Given the description of an element on the screen output the (x, y) to click on. 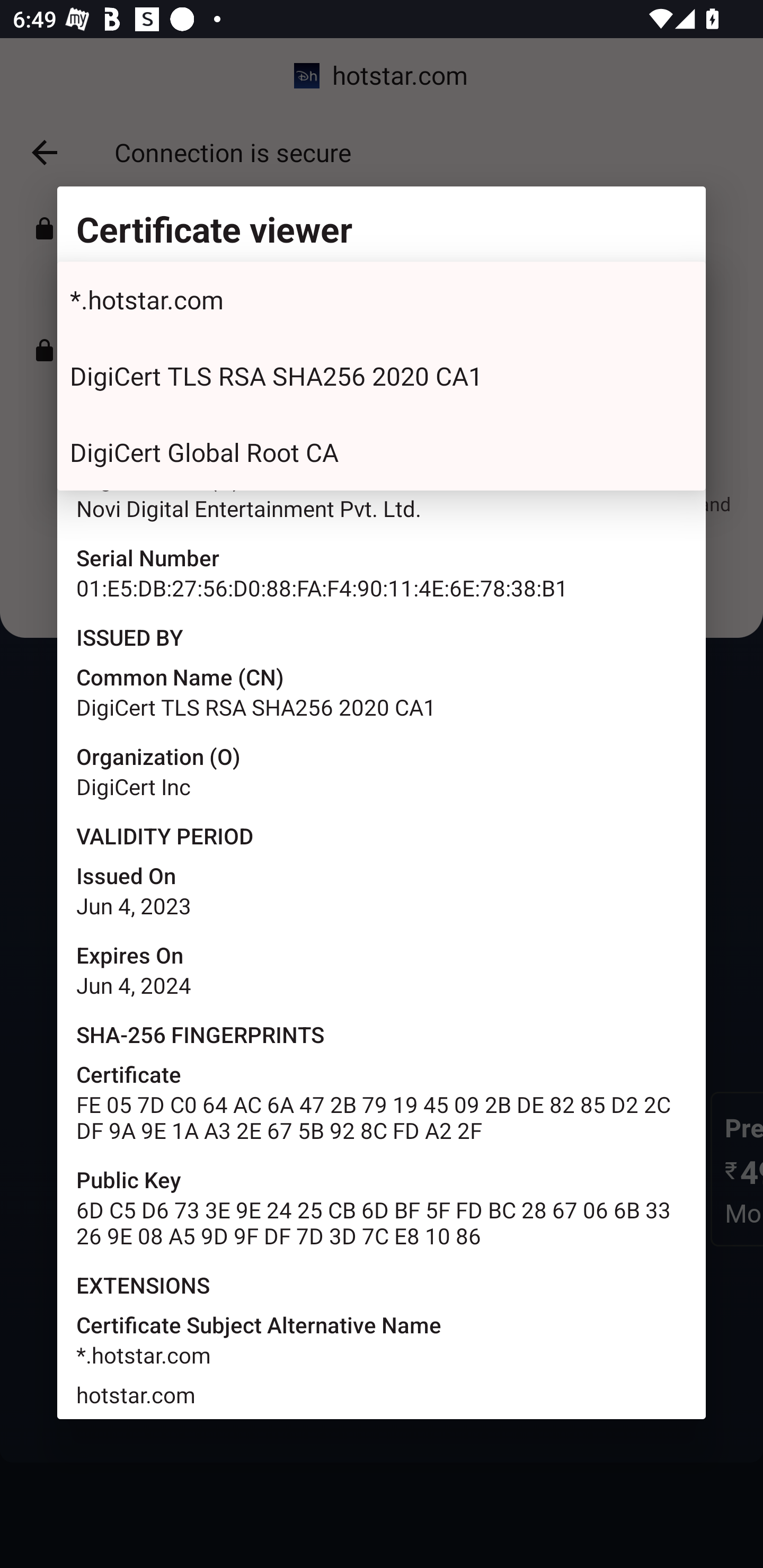
*.hotstar.com (381, 299)
DigiCert TLS RSA SHA256 2020 CA1 (381, 375)
DigiCert Global Root CA (381, 451)
